Given the description of an element on the screen output the (x, y) to click on. 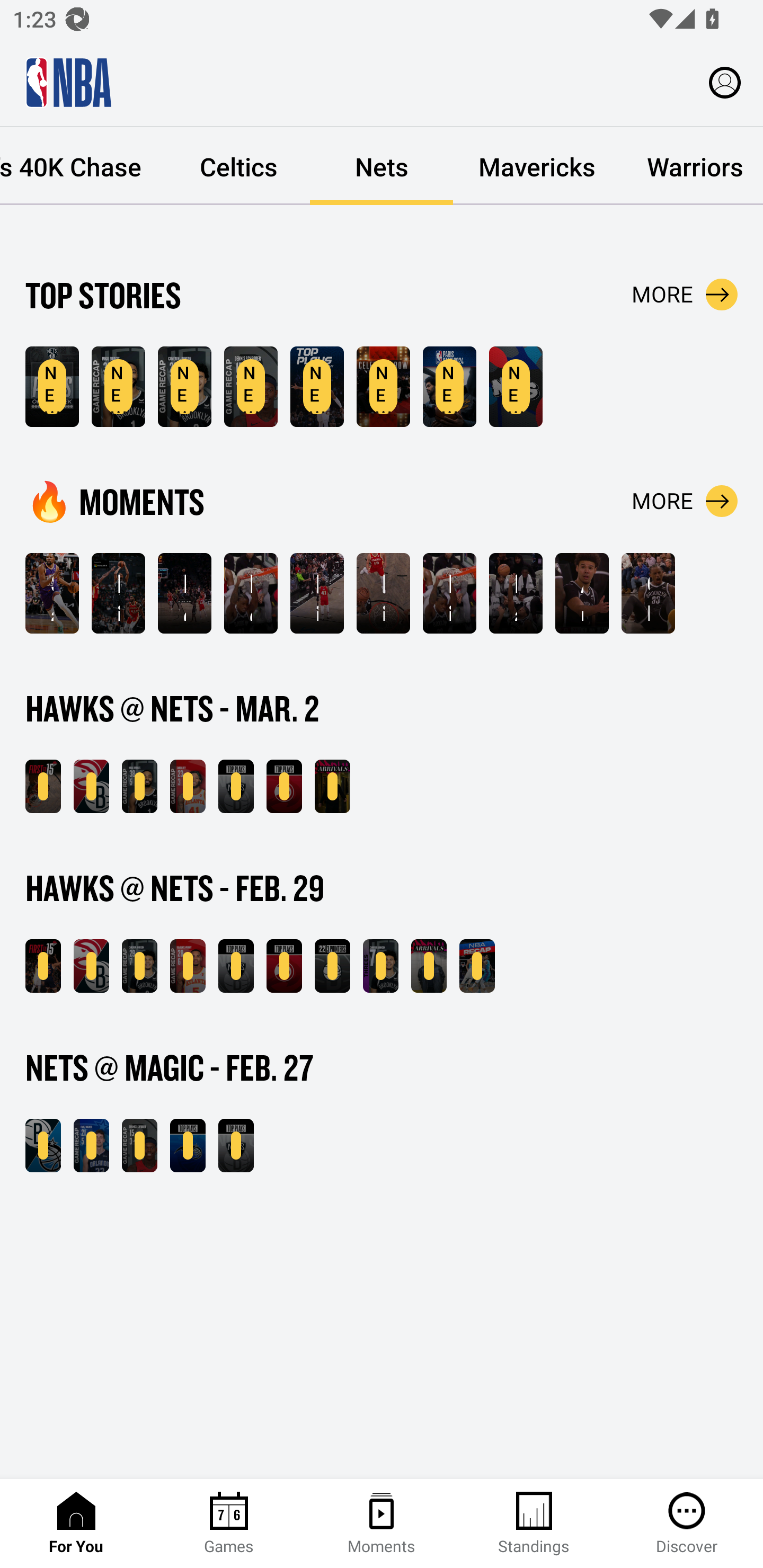
Profile (724, 81)
LeBron’s 40K Chase (83, 166)
Celtics (238, 166)
Mavericks (537, 166)
Warriors (692, 166)
MORE (684, 294)
NEW BKN's Top Plays of Week 19 (51, 386)
NEW Highlights From Mikal Bridges' 38-Point Game (117, 386)
NEW Top Plays From Paris (317, 386)
The Stars Were Out In Paris ⭐ NEW (383, 386)
Cavs And Nets Visit The Eiffel Tower 📷 NEW (449, 386)
Nets' 2023-24 City Edition Jerseys NEW (515, 386)
MORE (684, 500)
Saturday's Top Plays In 30 Seconds ⏱ (51, 593)
Dennis Schroder gets the 3 to fall (184, 593)
Dennis Schroder with the assist (250, 593)
Mikal Bridges with the hoop & harm (317, 593)
Nicolas Claxton throws it down (383, 593)
Nicolas Claxton rises to finish the alley-oop (449, 593)
Day'Ron Sharpe with the swat (515, 593)
And-1 for Cameron Johnson! (581, 593)
Claxton Rises Up For The Block ❌ (648, 593)
NEW First To 15 Mar. 2nd (43, 785)
NEW BKN 114, ATL 102 - Mar 2 (91, 785)
NEW Highlights From Mikal Bridges' 38-Point Game (139, 785)
NEW Highlights From Saddiq Bey's 23-Point Game (187, 785)
NEW BKN's Top Plays from ATL vs. BKN (236, 785)
ATL's Top Plays from ATL vs. BKN NEW (284, 785)
Saturday's Arrivals 🔥 NEW (332, 785)
NEW First To 15: Feb. 29th (43, 965)
NEW BKN 124, ATL 97 - Feb 29 (91, 965)
NEW BKN's Top Plays from ATL vs. BKN (236, 965)
ATL's Top Plays from ATL vs. BKN NEW (284, 965)
All 3's from BKN's 22 3-Pointer Night NEW (332, 965)
Thursday Night's Arrivals 🔥 NEW (428, 965)
Thursday's Recap NEW (477, 965)
NEW ORL 108, BKN 81 - Feb 27 (43, 1145)
NEW Highlights From Franz Wagner's 21-Point Game (91, 1145)
NEW ORL's Top Plays from BKN vs. ORL (187, 1145)
NEW BKN's Top Plays from BKN vs. ORL (236, 1145)
Games (228, 1523)
Moments (381, 1523)
Standings (533, 1523)
Discover (686, 1523)
